Given the description of an element on the screen output the (x, y) to click on. 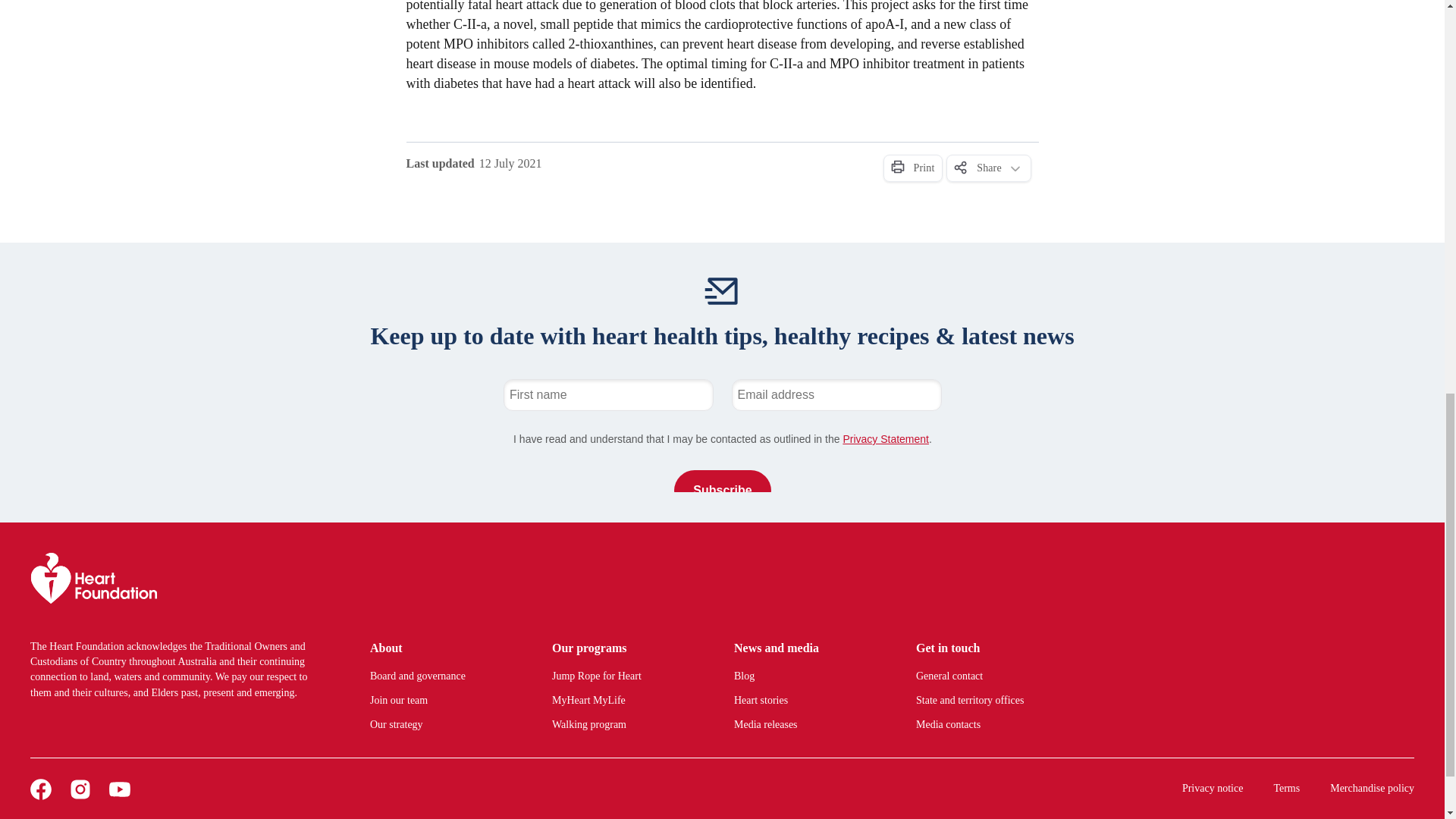
Join our team (442, 700)
MyHeart MyLife (624, 700)
Share (988, 167)
Our programs (624, 647)
About (442, 647)
Newsletter Signup (722, 435)
Jump Rope for Heart (624, 676)
Board and governance (442, 676)
Print (912, 167)
Walking program (624, 724)
